Given the description of an element on the screen output the (x, y) to click on. 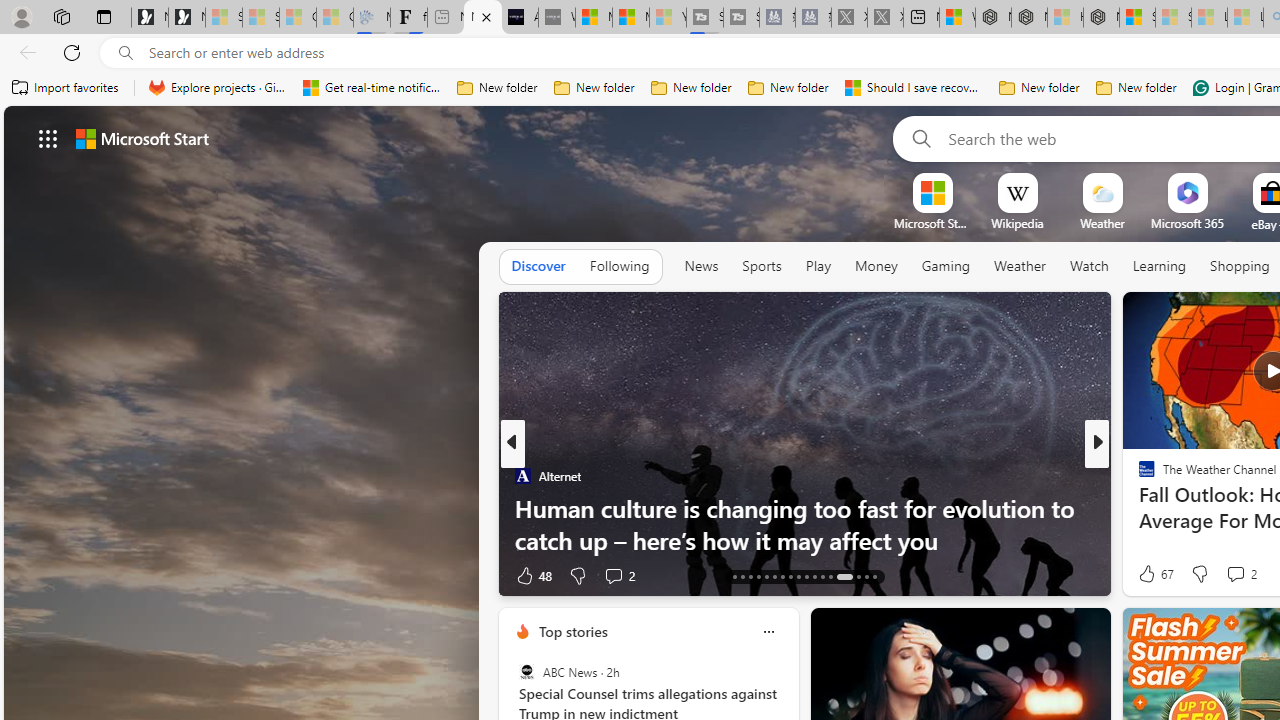
Personal Profile (21, 16)
View comments 124 Comment (11, 575)
AutomationID: tab-20 (757, 576)
AI Voice Changer for PC and Mac - Voice.ai (519, 17)
Ad Choice (479, 575)
View comments 2 Comment (1234, 573)
Discover (538, 267)
News (701, 265)
92 Like (1149, 574)
New folder (1136, 88)
Search icon (125, 53)
Money (875, 265)
